Given the description of an element on the screen output the (x, y) to click on. 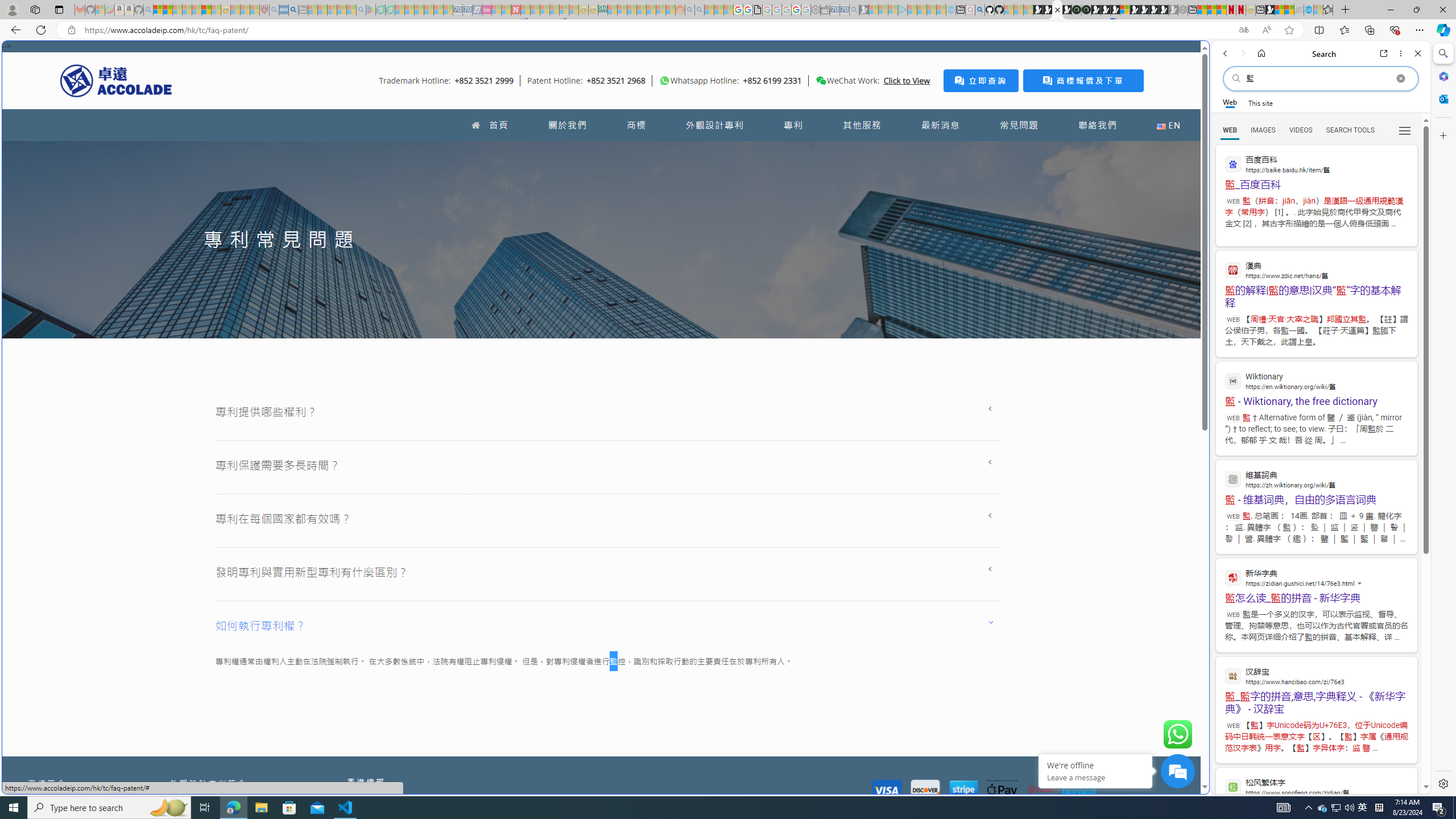
Accolade IP HK Logo (116, 80)
